Given the description of an element on the screen output the (x, y) to click on. 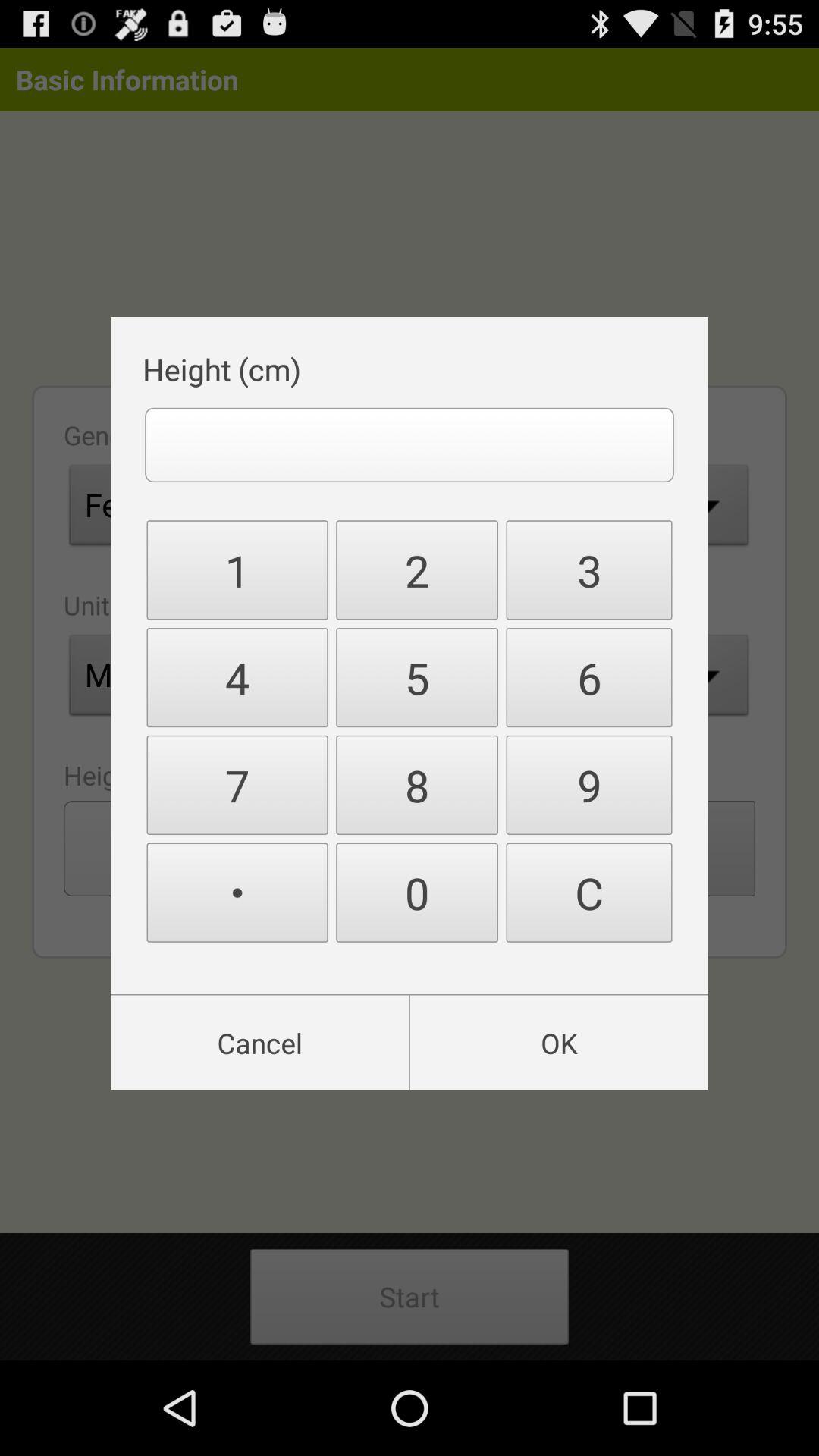
press item to the right of 1 (417, 677)
